Given the description of an element on the screen output the (x, y) to click on. 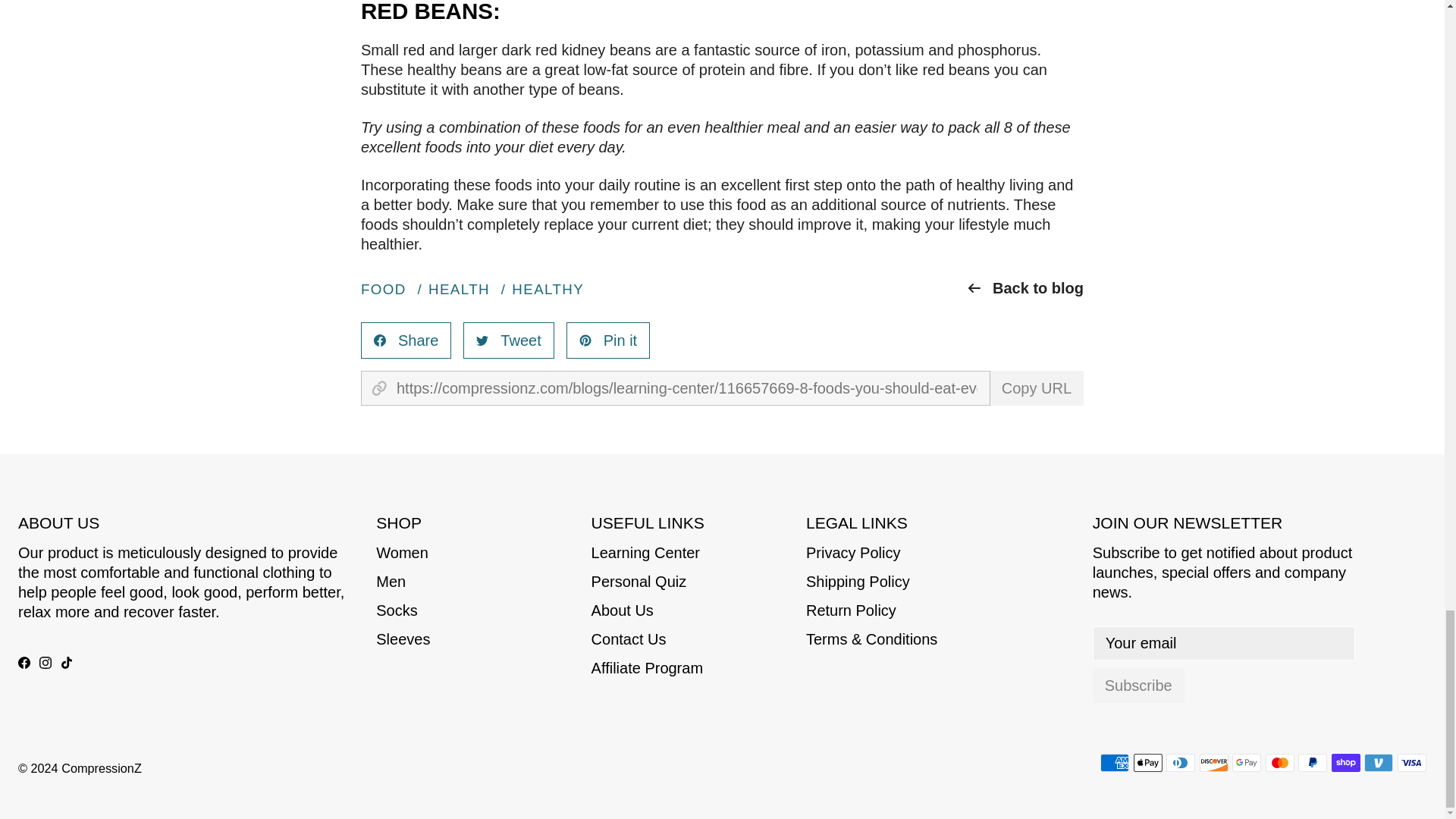
Venmo (1378, 762)
Discover (1213, 762)
Diners Club (1180, 762)
Apple Pay (1146, 762)
American Express (1114, 762)
Google Pay (1245, 762)
Show articles tagged food (383, 289)
Show articles tagged health (458, 289)
Visa (1411, 762)
Show articles tagged healthy (547, 289)
